Given the description of an element on the screen output the (x, y) to click on. 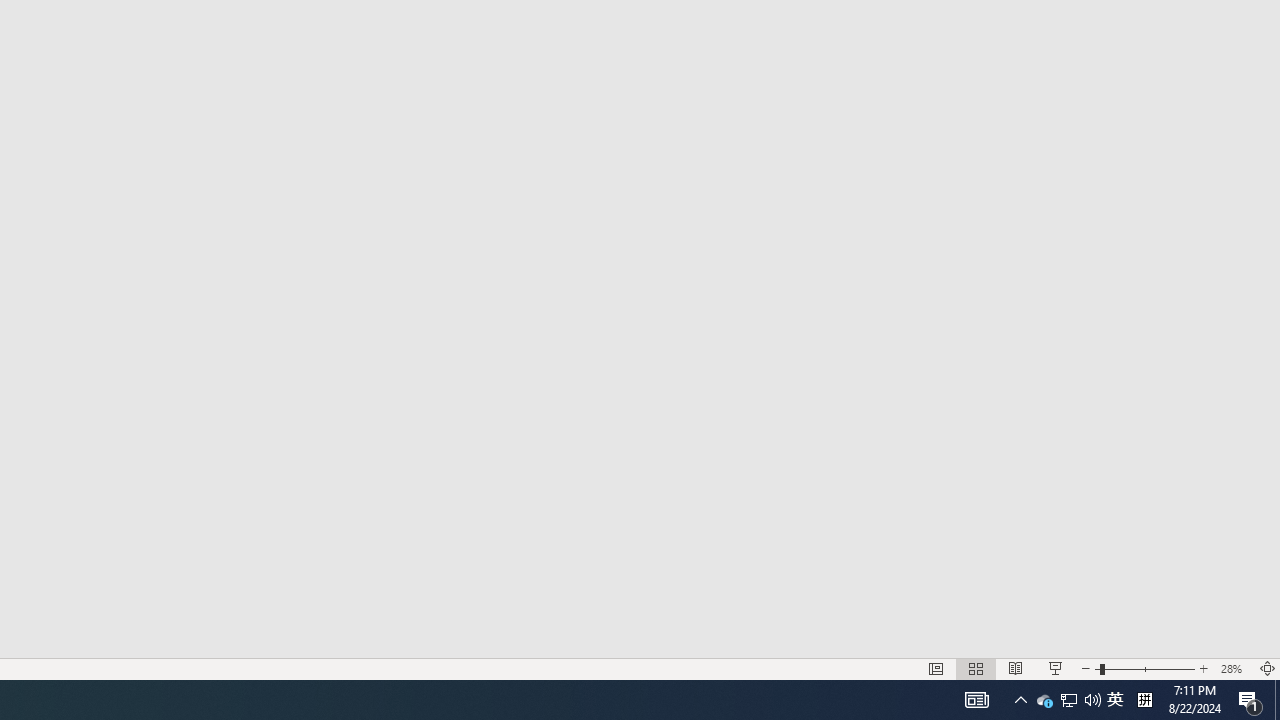
Zoom 28% (1234, 668)
